Given the description of an element on the screen output the (x, y) to click on. 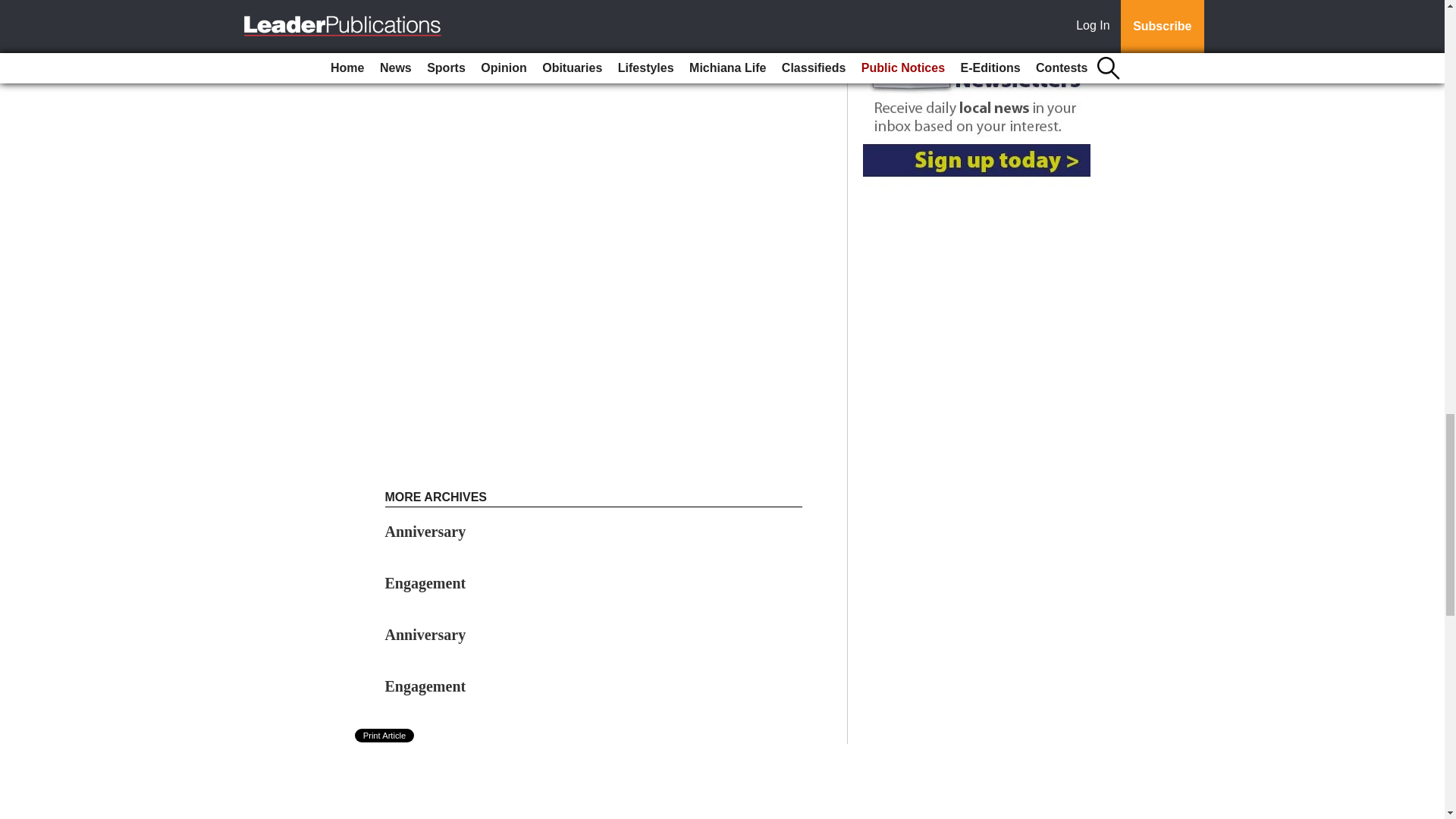
Print Article (384, 735)
Engagement (425, 686)
Subscribe (434, 19)
Anniversary (425, 634)
Anniversary (425, 531)
Engagement (425, 582)
Subscribe (434, 19)
Engagement (425, 686)
Anniversary (425, 634)
Engagement (425, 582)
Anniversary (425, 531)
